Given the description of an element on the screen output the (x, y) to click on. 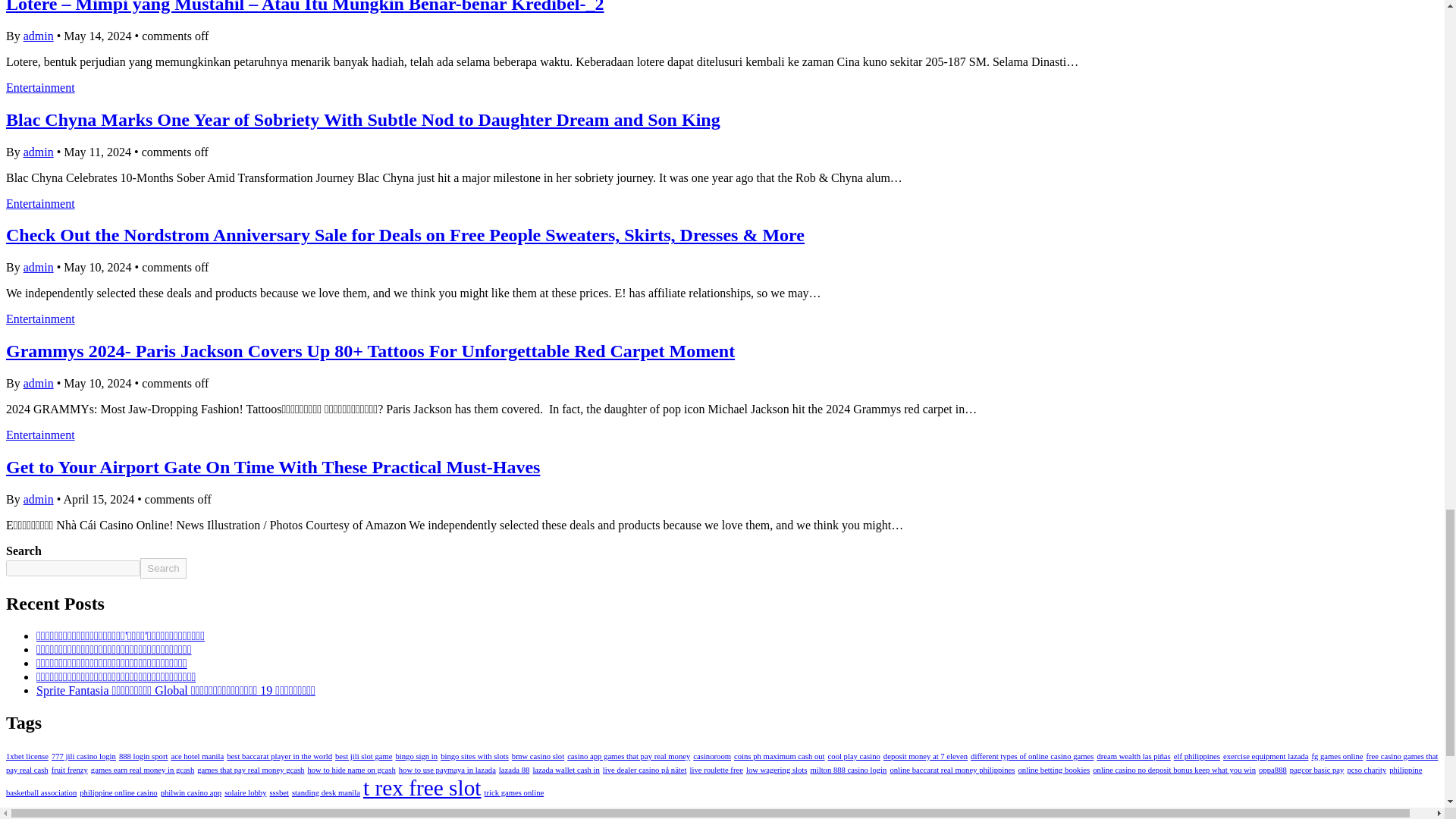
Posts by admin (38, 151)
Posts by admin (38, 499)
admin (38, 151)
Posts by admin (38, 382)
Entertainment (40, 87)
Entertainment (40, 203)
admin (38, 35)
Posts by admin (38, 35)
Posts by admin (38, 267)
